Given the description of an element on the screen output the (x, y) to click on. 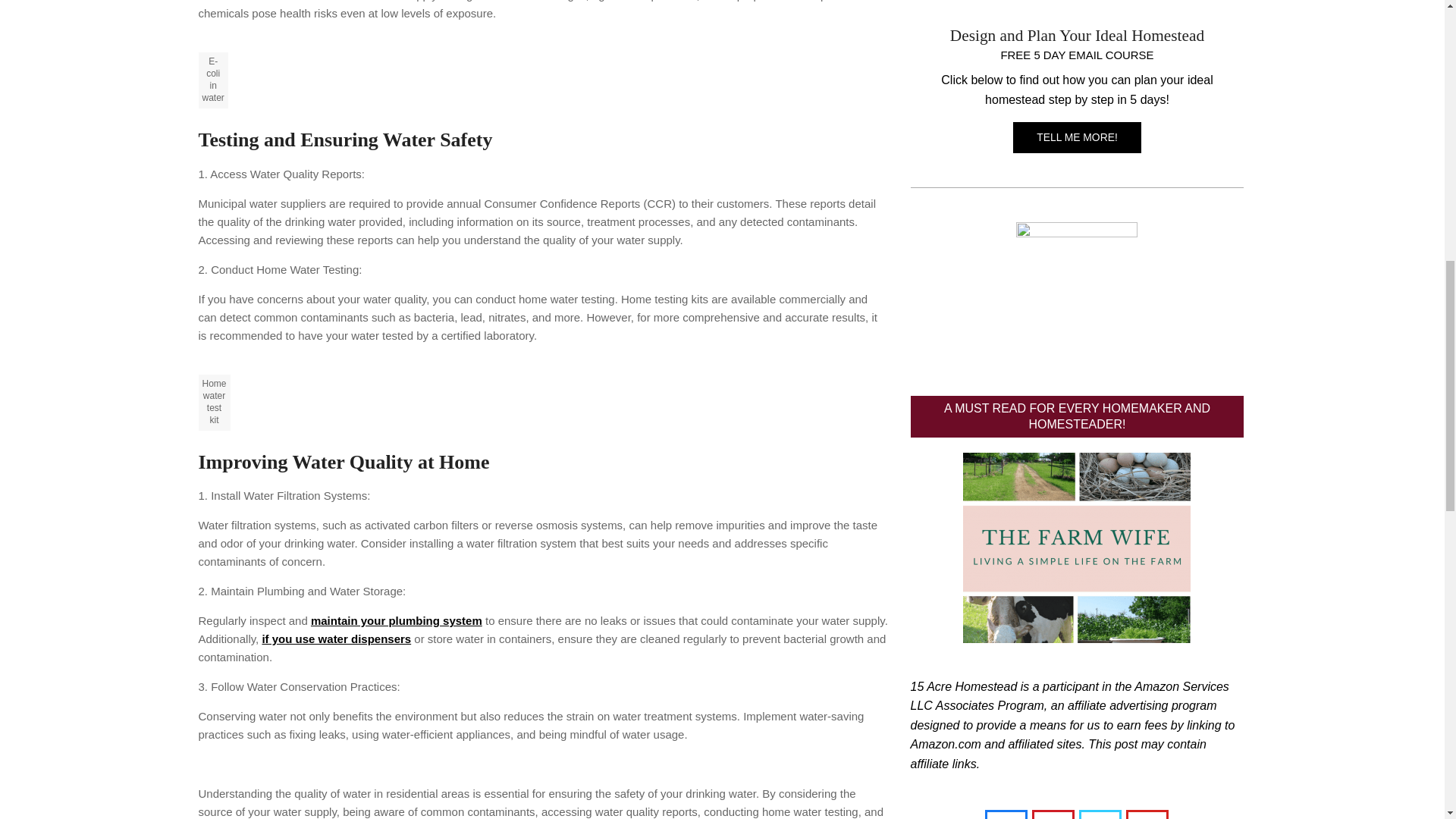
maintain your plumbing system (396, 620)
A must read for every homemaker and homesteader! (1076, 547)
if you use water dispensers (336, 638)
